Given the description of an element on the screen output the (x, y) to click on. 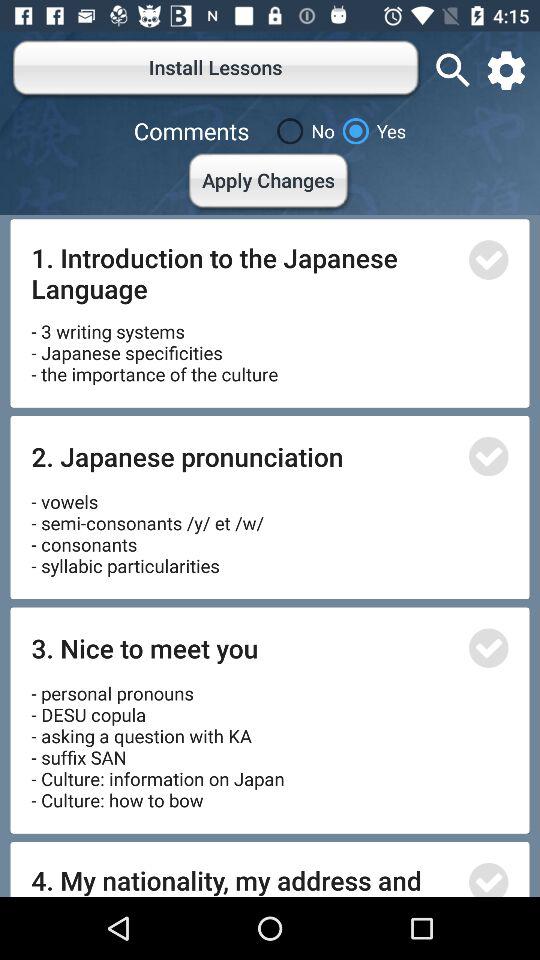
tap the item to the right of comments icon (301, 131)
